Given the description of an element on the screen output the (x, y) to click on. 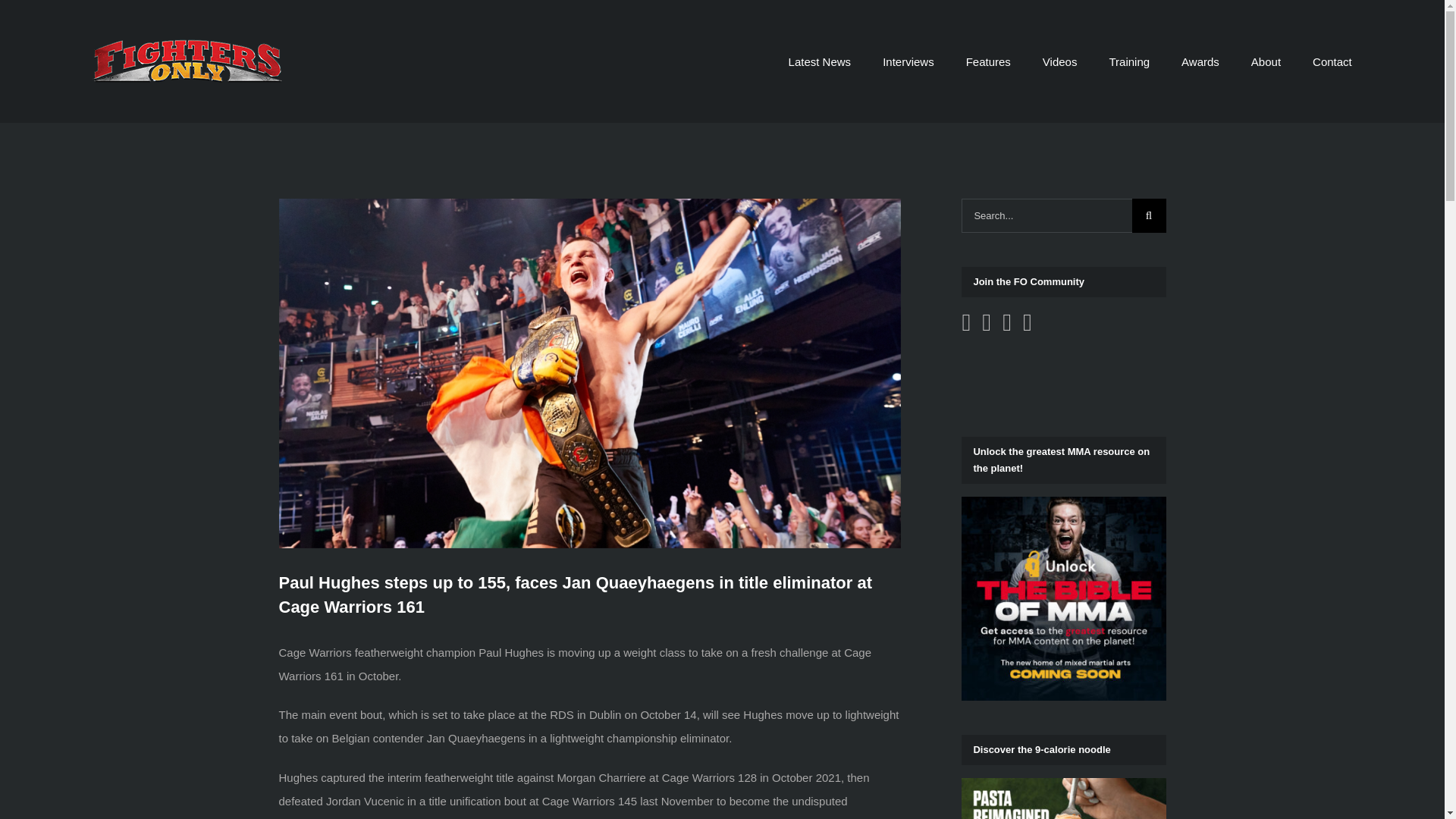
Contact (1332, 61)
Features (988, 61)
Videos (1059, 61)
Awards (1200, 61)
Interviews (908, 61)
About (1265, 61)
YouTube (986, 322)
Latest News (820, 61)
Facebook (965, 322)
Training (1129, 61)
